Given the description of an element on the screen output the (x, y) to click on. 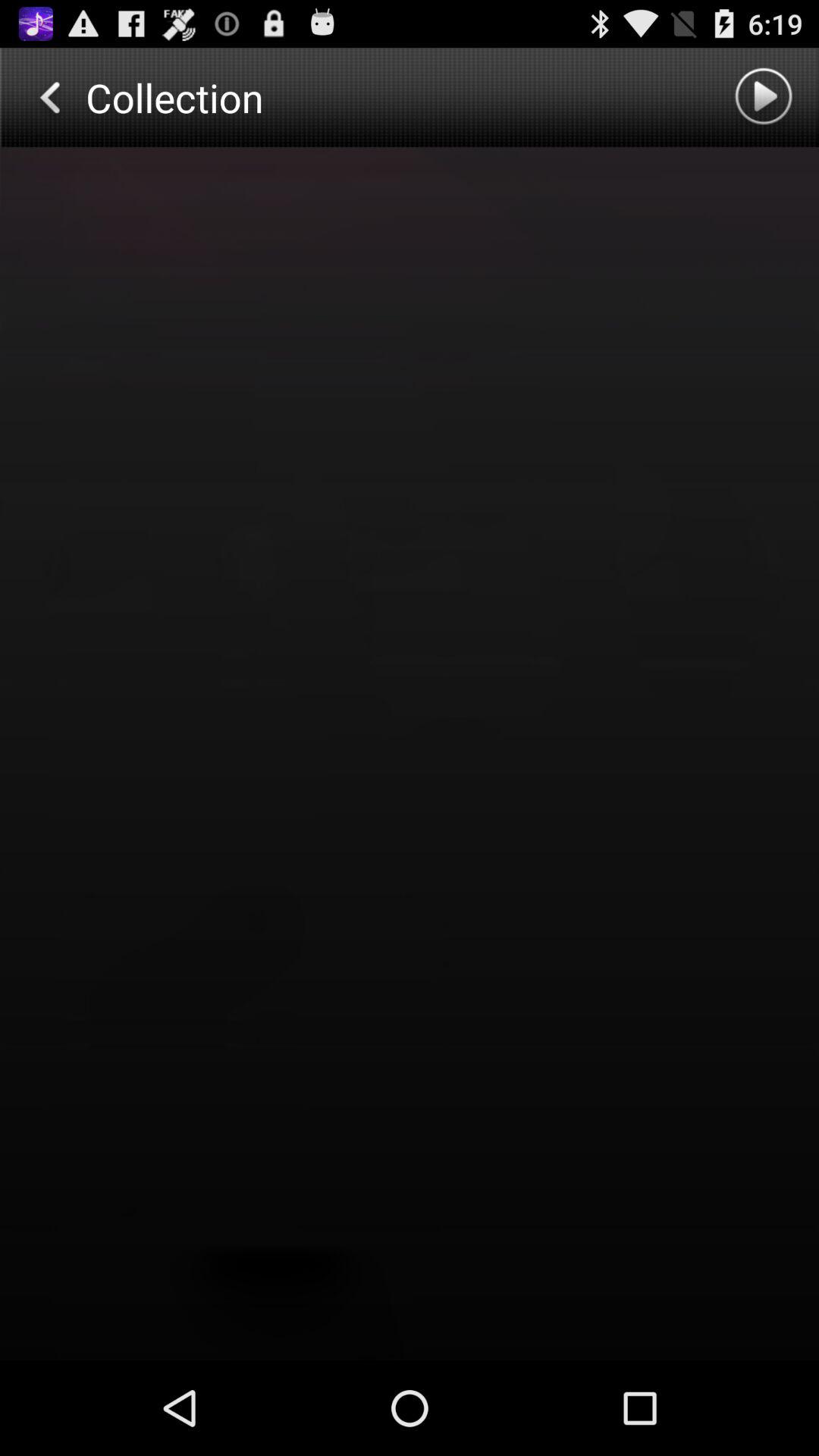
launch item at the center (409, 753)
